Given the description of an element on the screen output the (x, y) to click on. 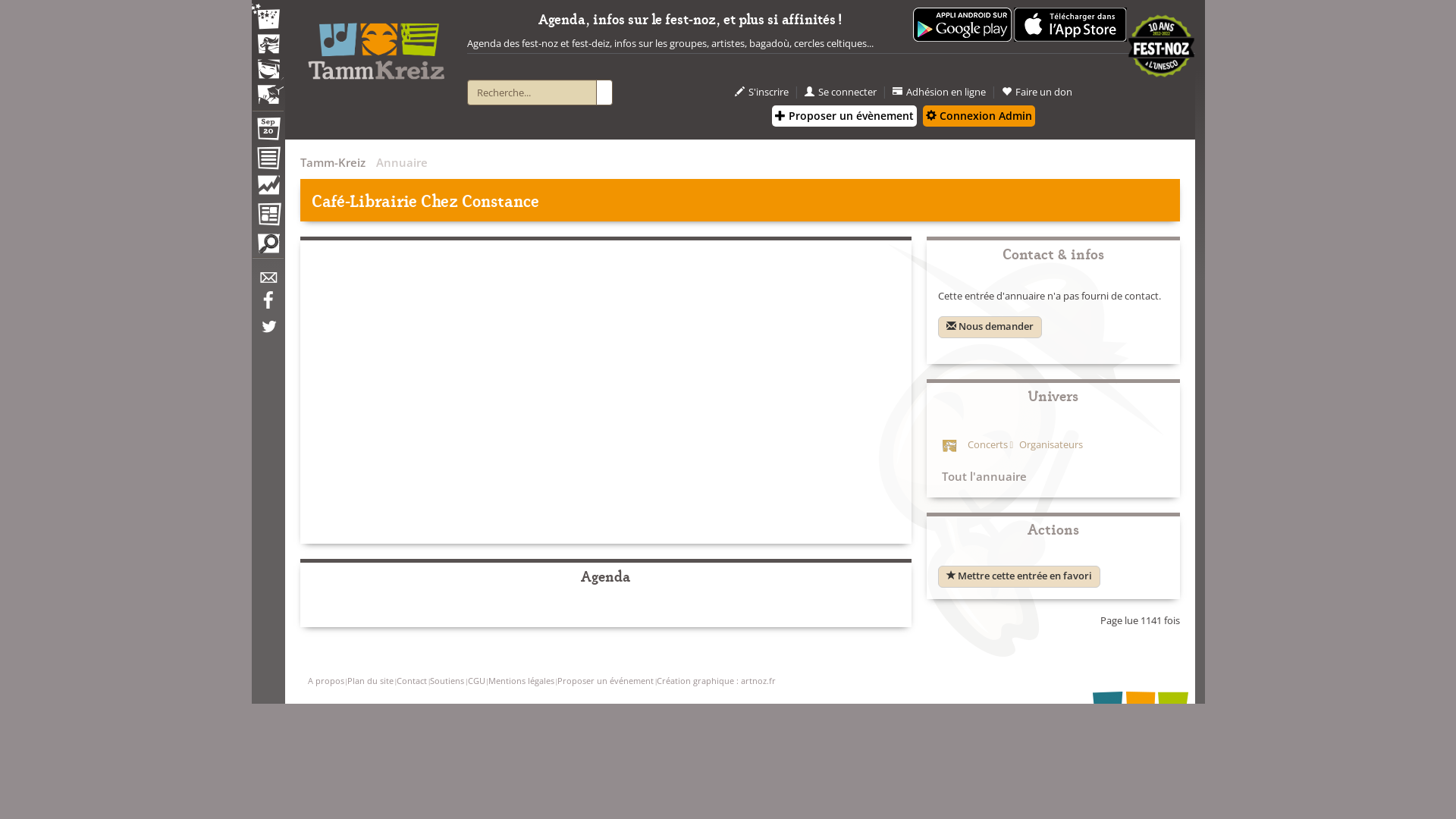
Festnoz Element type: text (267, 17)
A propos Element type: text (325, 680)
Annuaire Element type: text (267, 160)
Accueil - Tamm Kreiz Element type: hover (376, 45)
Nous demander Element type: text (989, 327)
Organisateurs Element type: text (1046, 444)
Connexion Admin Element type: text (978, 115)
Concerts Element type: text (267, 45)
Magazine Element type: text (267, 215)
Tamm-Kreiz Element type: text (332, 161)
Tout l'annuaire Element type: text (981, 475)
CGU Element type: text (476, 680)
Plan du site Element type: text (370, 680)
Petites annonces Element type: text (267, 246)
Annuaire Element type: text (401, 161)
Faire un don Element type: text (1036, 91)
Twitter Element type: text (267, 334)
S'inscrire Element type: text (761, 91)
Contact Element type: text (411, 680)
Concerts Element type: text (987, 444)
Ensembles traditionnels Element type: text (267, 88)
Facebook Element type: text (267, 305)
Se connecter Element type: text (840, 91)
Observatoire Element type: text (267, 188)
Formation Element type: text (267, 73)
Soutiens Element type: text (446, 680)
Contact Element type: text (267, 281)
Nous demander Element type: text (989, 326)
Agenda Element type: text (267, 131)
